Given the description of an element on the screen output the (x, y) to click on. 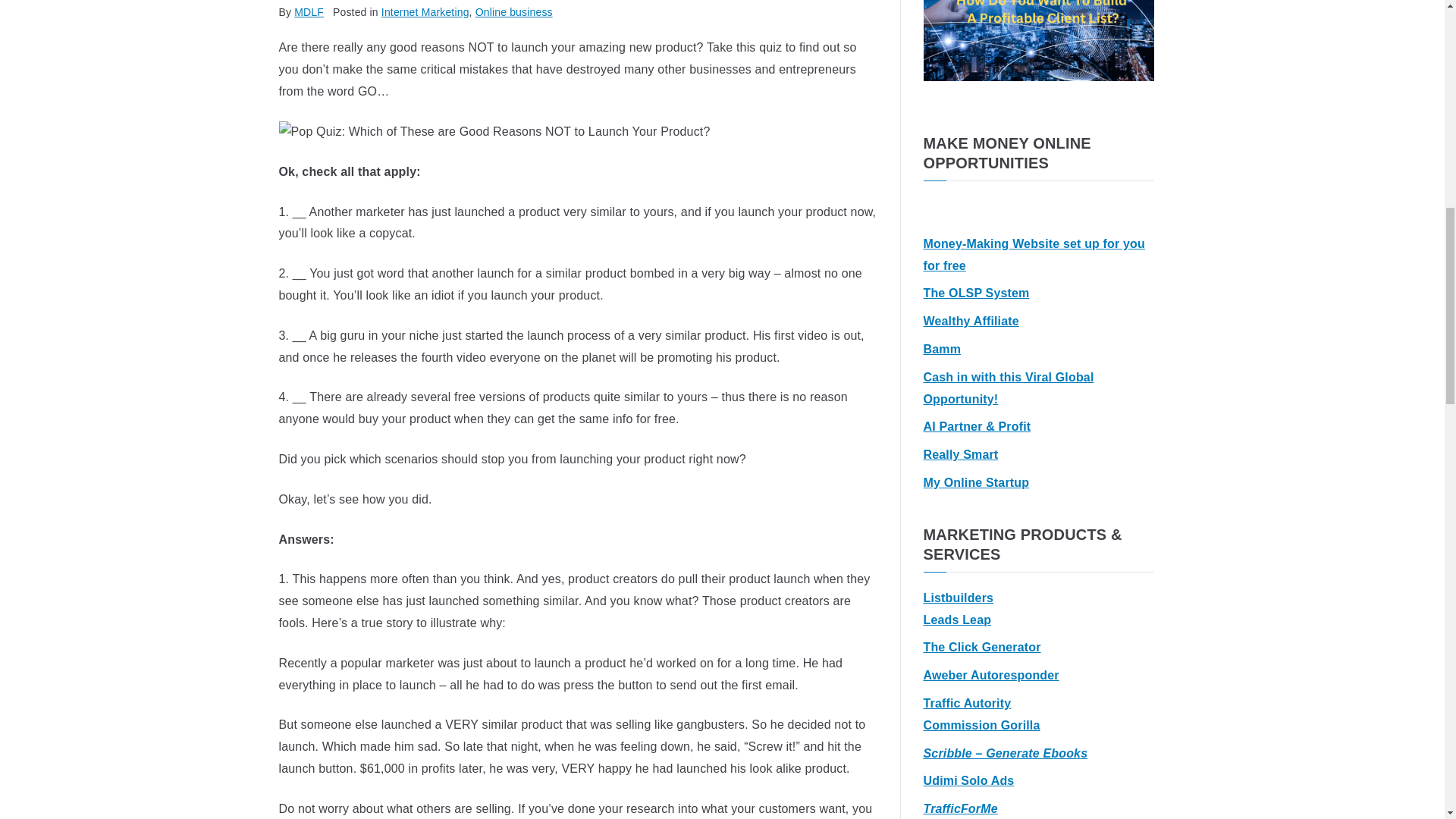
Internet Marketing (424, 11)
Online business (514, 11)
MDLF (308, 11)
